Given the description of an element on the screen output the (x, y) to click on. 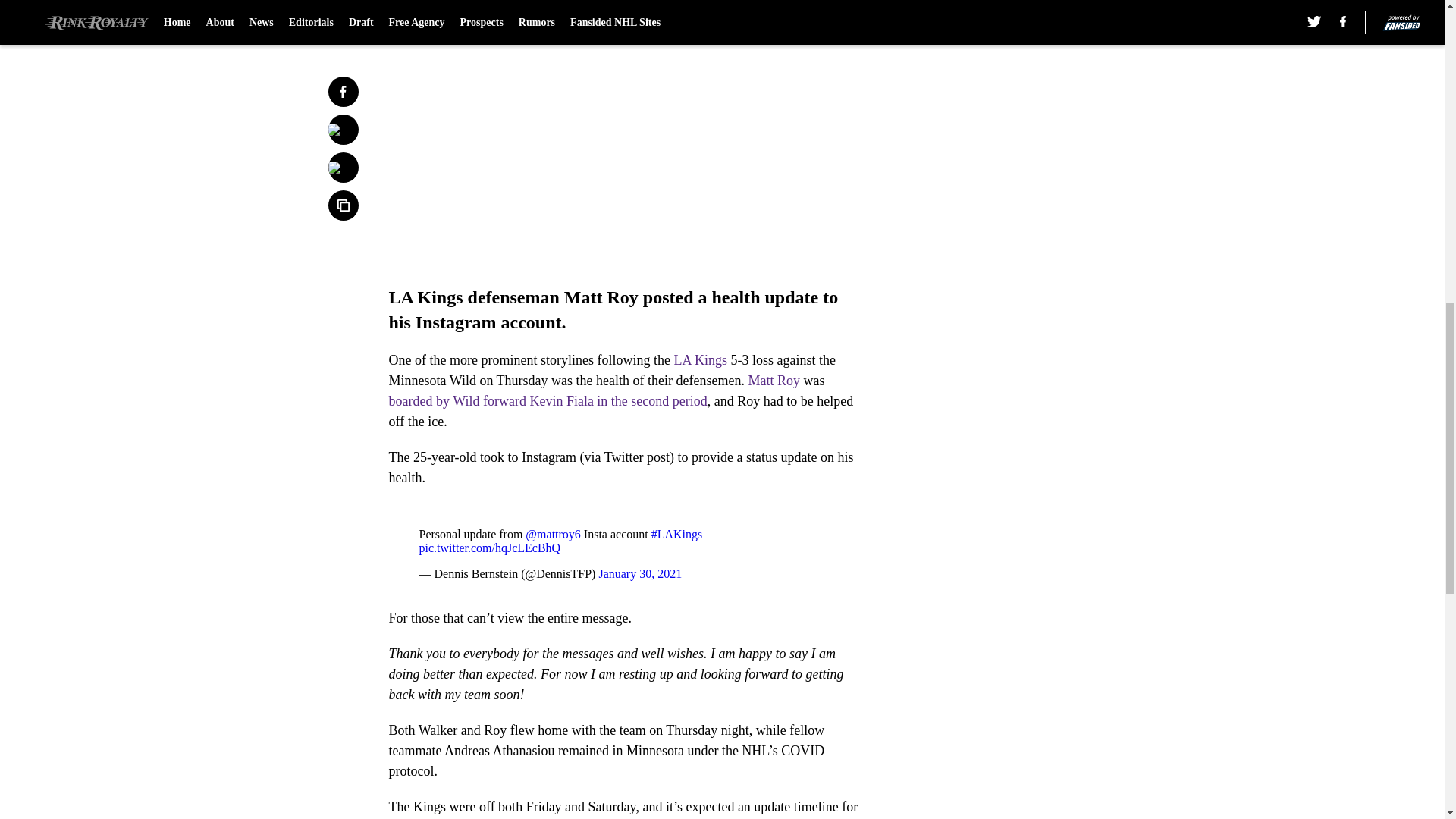
Matt Roy (773, 380)
January 30, 2021 (639, 573)
boarded by Wild forward Kevin Fiala in the second period (547, 400)
LA Kings (697, 359)
